Given the description of an element on the screen output the (x, y) to click on. 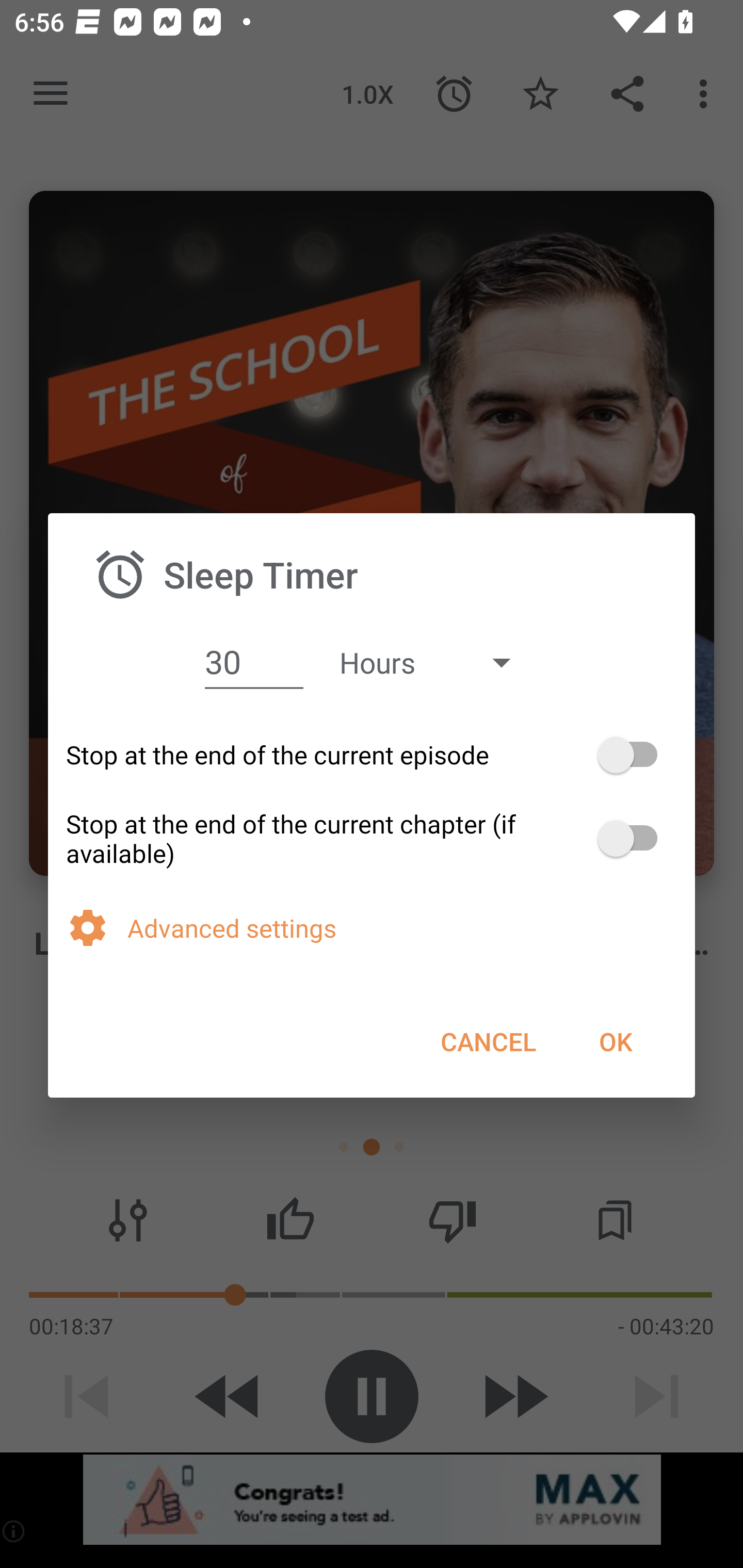
30 (253, 661)
Hours (434, 662)
Stop at the end of the current episode (371, 754)
Advanced settings (401, 928)
CANCEL (488, 1040)
OK (615, 1040)
